Given the description of an element on the screen output the (x, y) to click on. 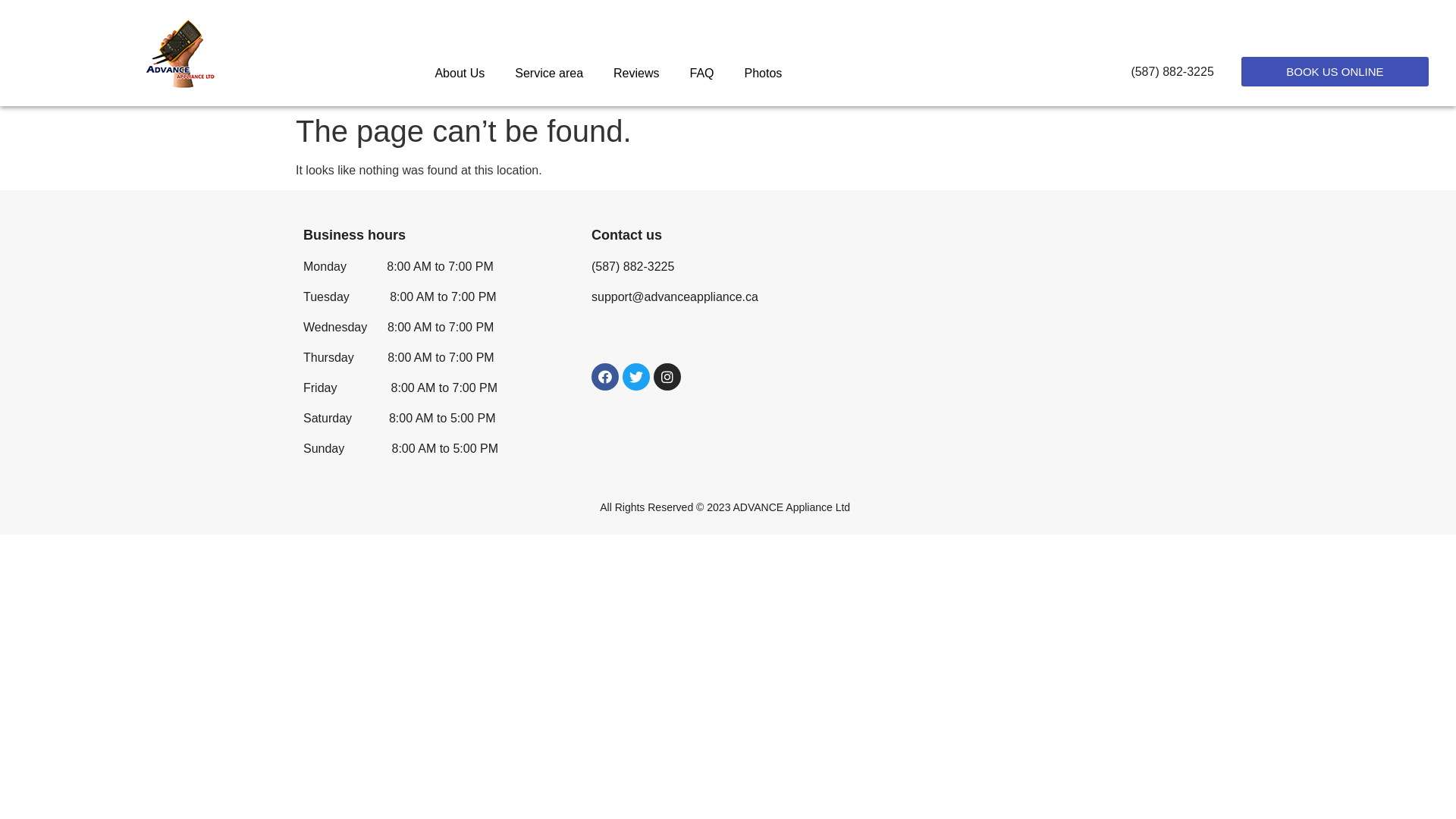
Photos Element type: text (763, 73)
Reviews Element type: text (636, 73)
Service area Element type: text (548, 73)
FAQ Element type: text (701, 73)
(587) 882-3225 Element type: text (1171, 71)
About Us Element type: text (459, 73)
BOOK US ONLINE Element type: text (1334, 71)
